Given the description of an element on the screen output the (x, y) to click on. 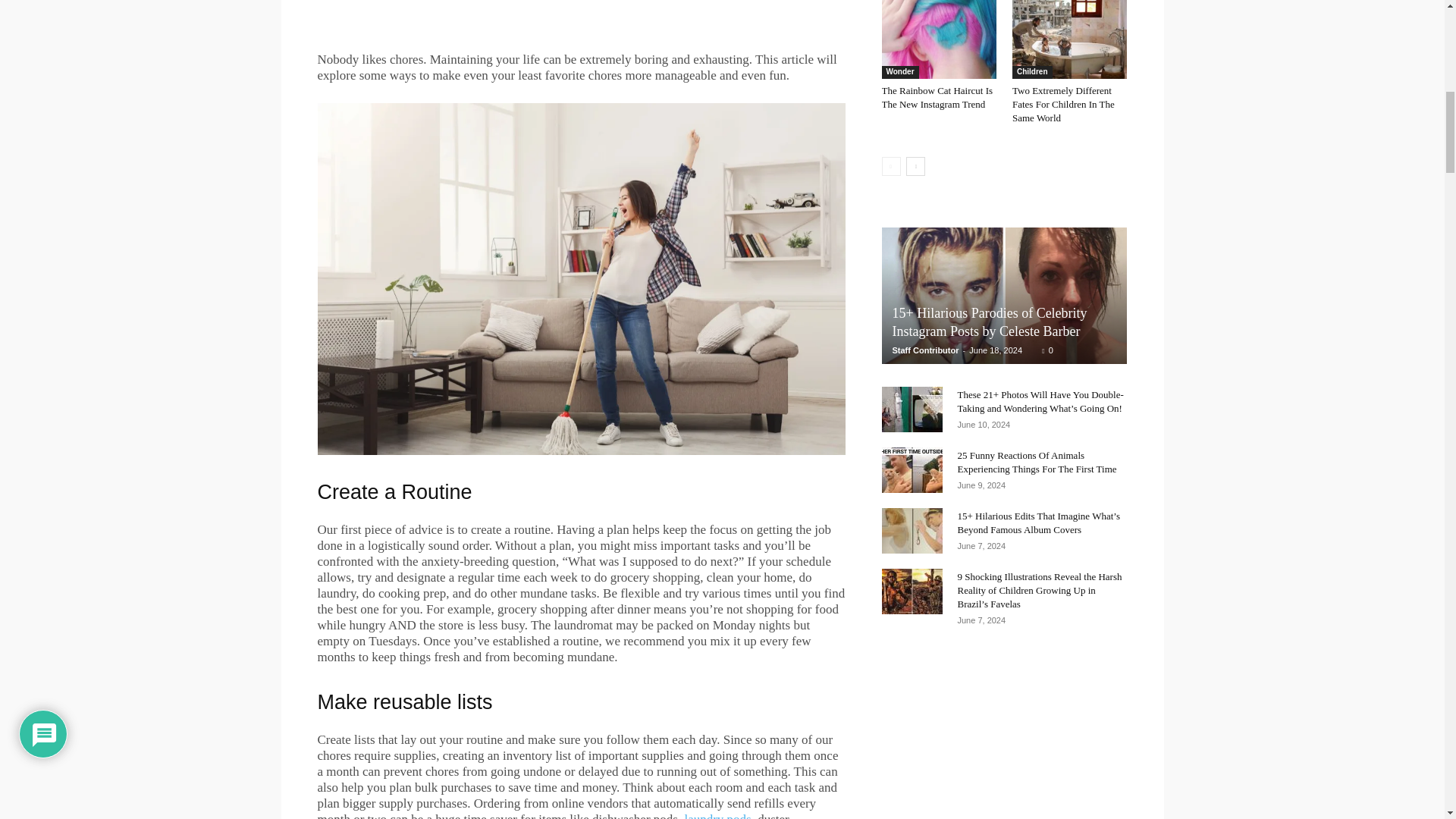
laundry pods (717, 815)
Advertisement (580, 18)
